Given the description of an element on the screen output the (x, y) to click on. 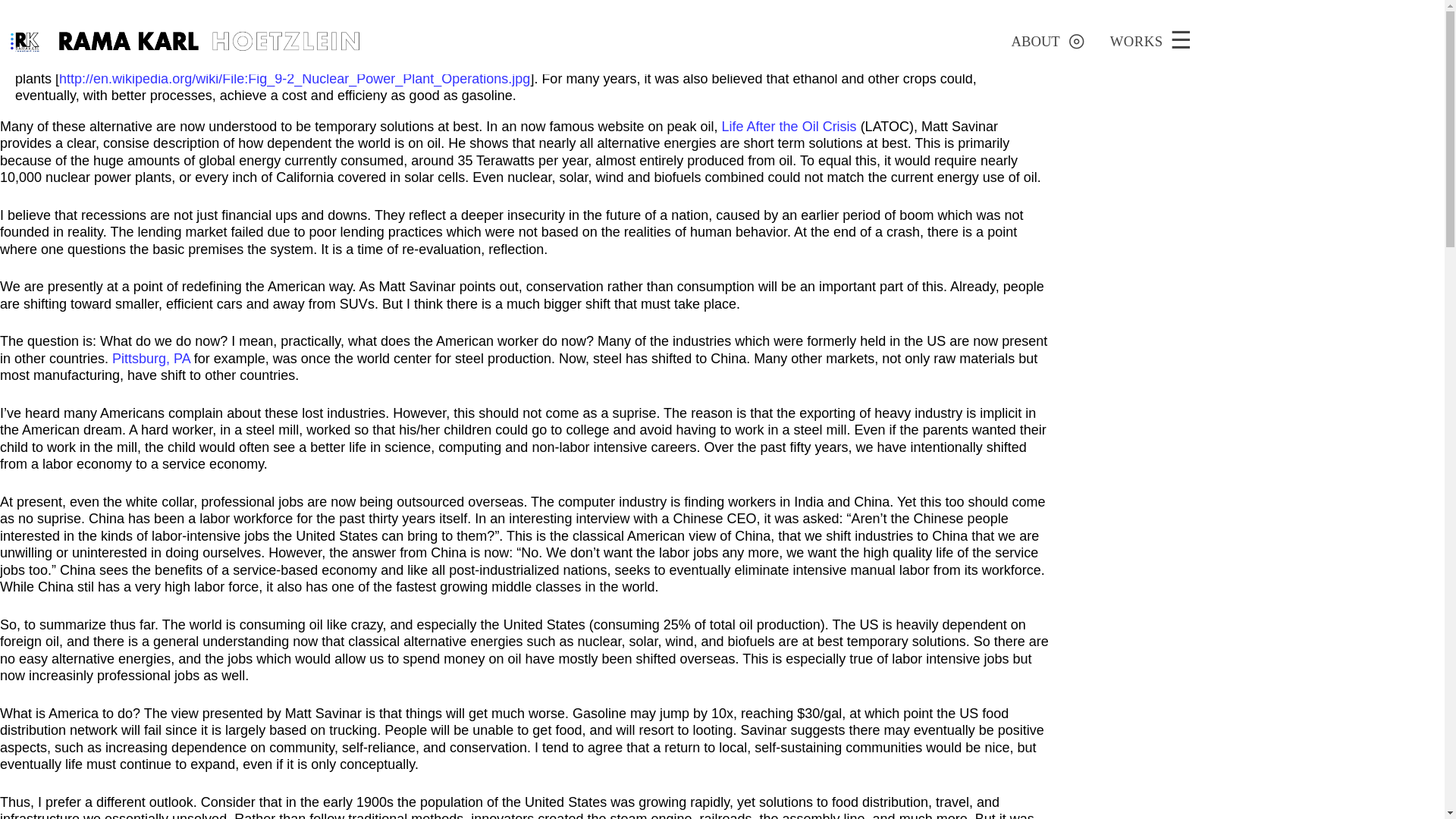
Life After the Oil Crisis (789, 125)
Economics (1163, 68)
June 16, 2010 (1170, 40)
Pittsburg, PA (151, 357)
